Given the description of an element on the screen output the (x, y) to click on. 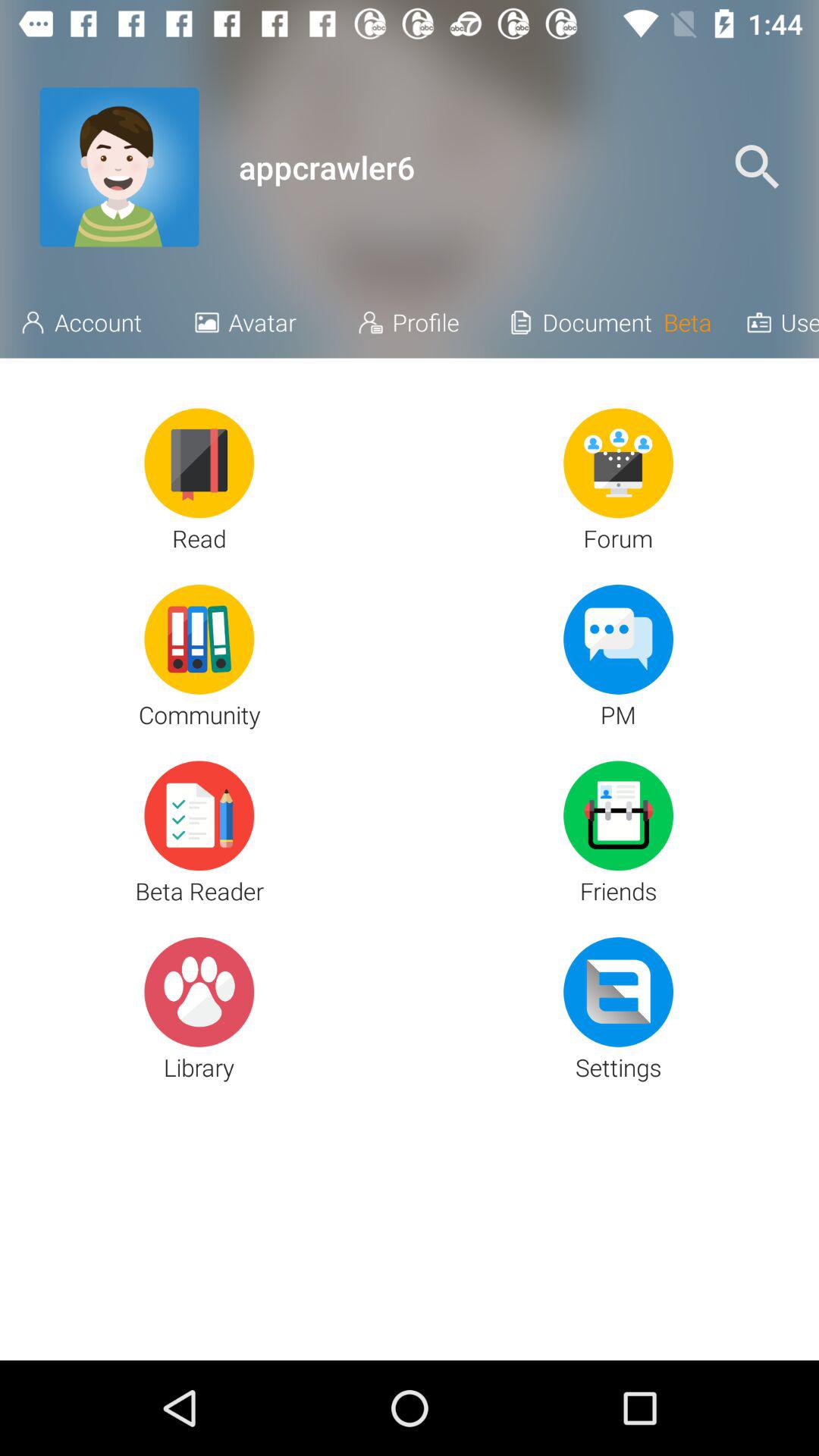
open icon next to the _ icon (486, 167)
